Given the description of an element on the screen output the (x, y) to click on. 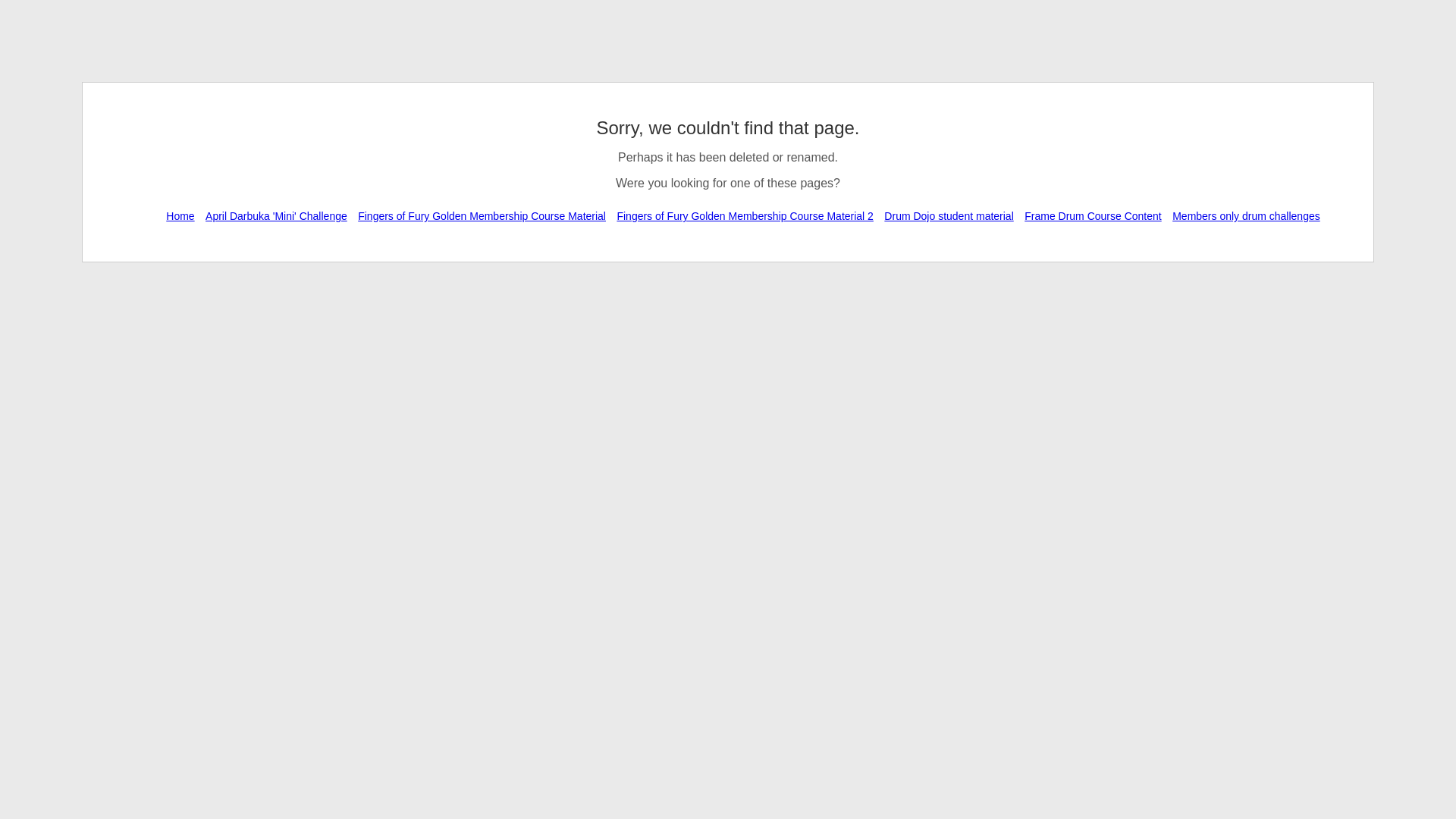
Fingers of Fury Golden Membership Course Material Element type: text (481, 216)
April Darbuka 'Mini' Challenge Element type: text (276, 216)
Drum Dojo student material Element type: text (948, 216)
Members only drum challenges Element type: text (1246, 216)
Fingers of Fury Golden Membership Course Material 2 Element type: text (744, 216)
Frame Drum Course Content Element type: text (1092, 216)
Home Element type: text (179, 216)
